Given the description of an element on the screen output the (x, y) to click on. 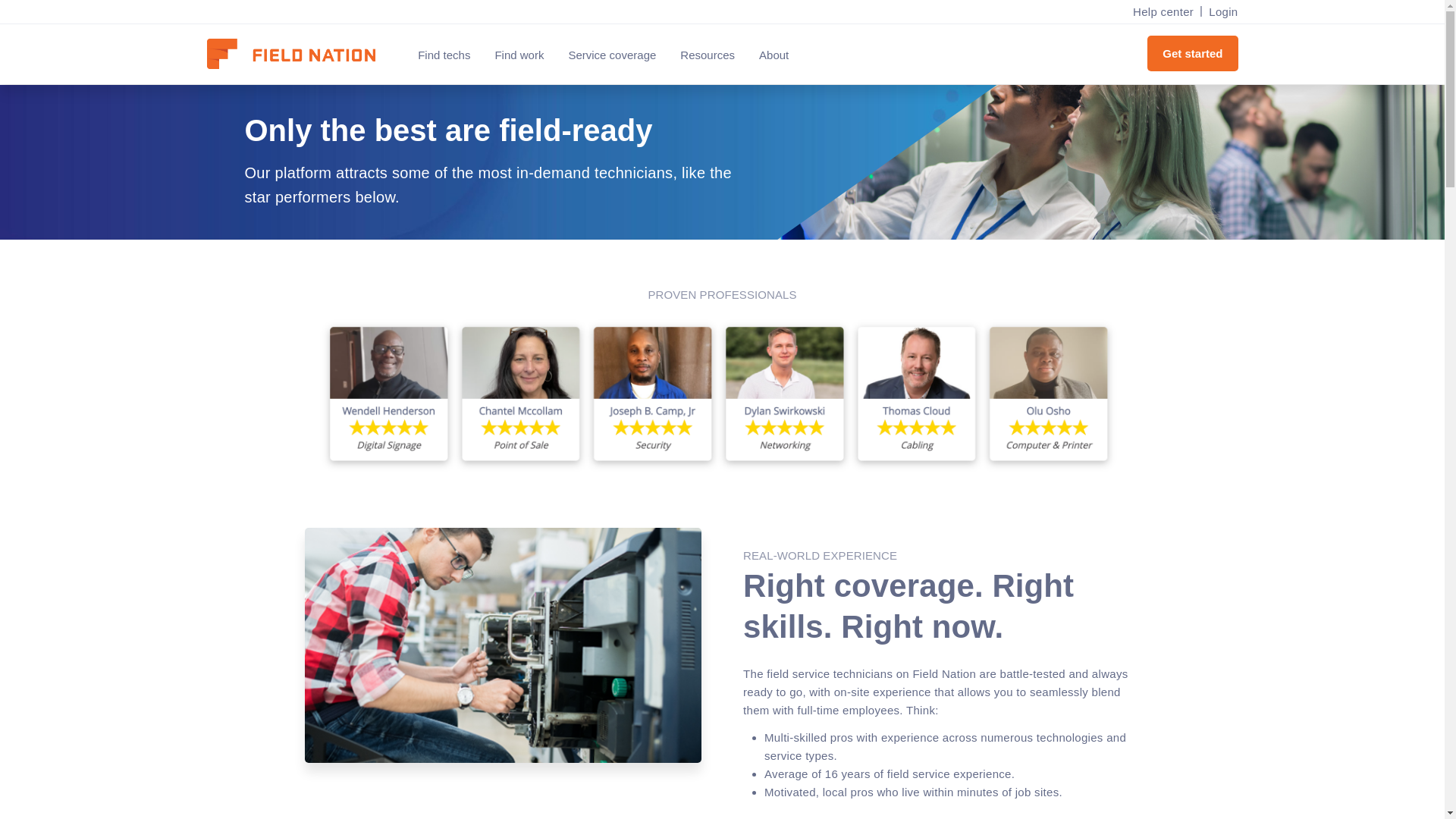
Field Nation Homepage (298, 54)
Find work (518, 54)
Service coverage (612, 54)
Help center (1162, 11)
Find techs (443, 54)
Help center (1162, 11)
Login (1219, 11)
Login (1219, 11)
Resources (707, 54)
